Given the description of an element on the screen output the (x, y) to click on. 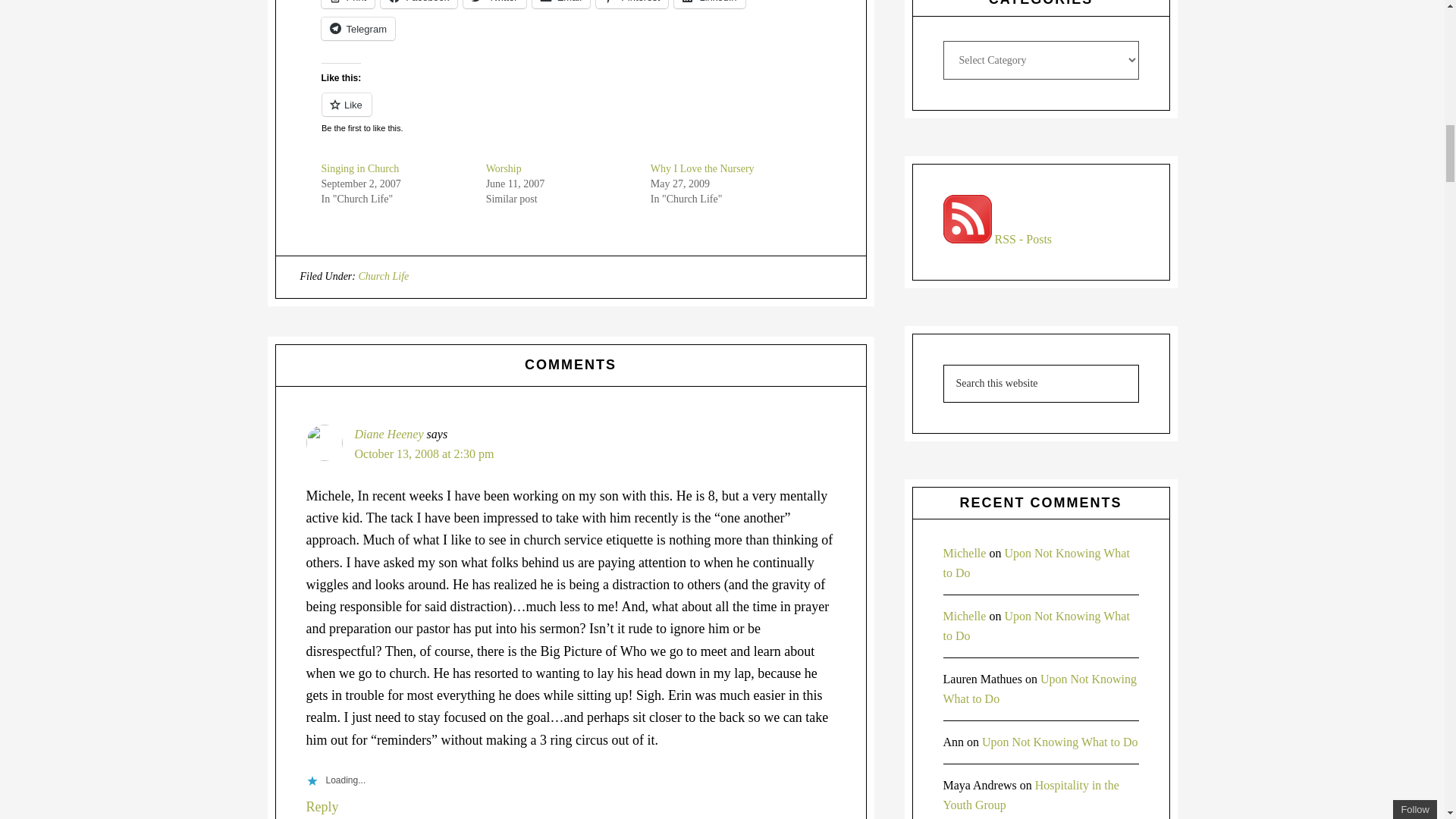
Worship (503, 168)
Twitter (494, 4)
Singing in Church (359, 168)
Diane Heeney (389, 433)
Facebook (418, 4)
Why I Love the Nursery (702, 168)
Church Life (383, 276)
Click to share on Telegram (357, 28)
Singing in Church (359, 168)
Click to share on LinkedIn (709, 4)
Worship (503, 168)
Reply (322, 806)
Click to share on Facebook (418, 4)
